Given the description of an element on the screen output the (x, y) to click on. 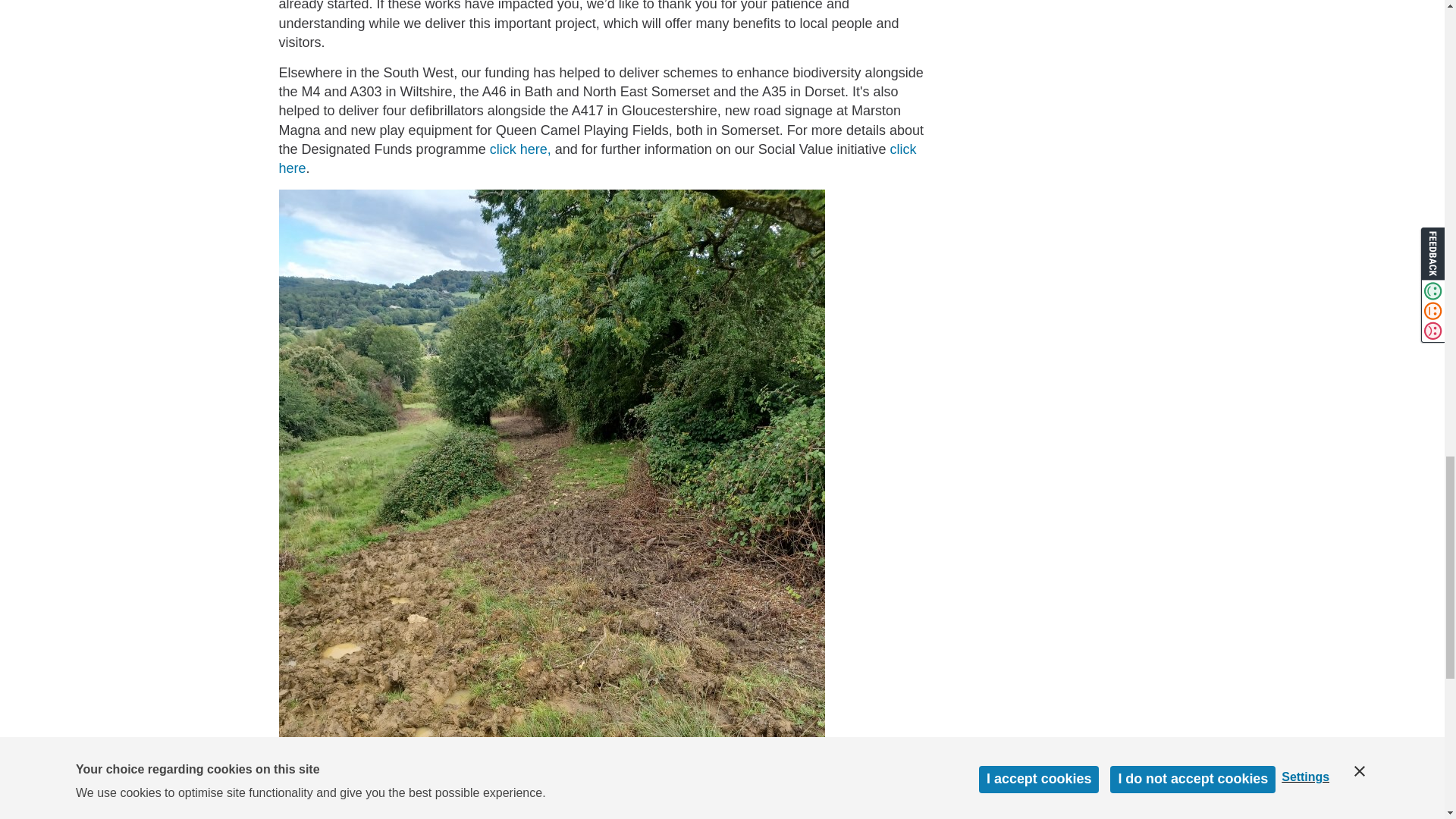
click here, (518, 149)
click here (598, 158)
